Given the description of an element on the screen output the (x, y) to click on. 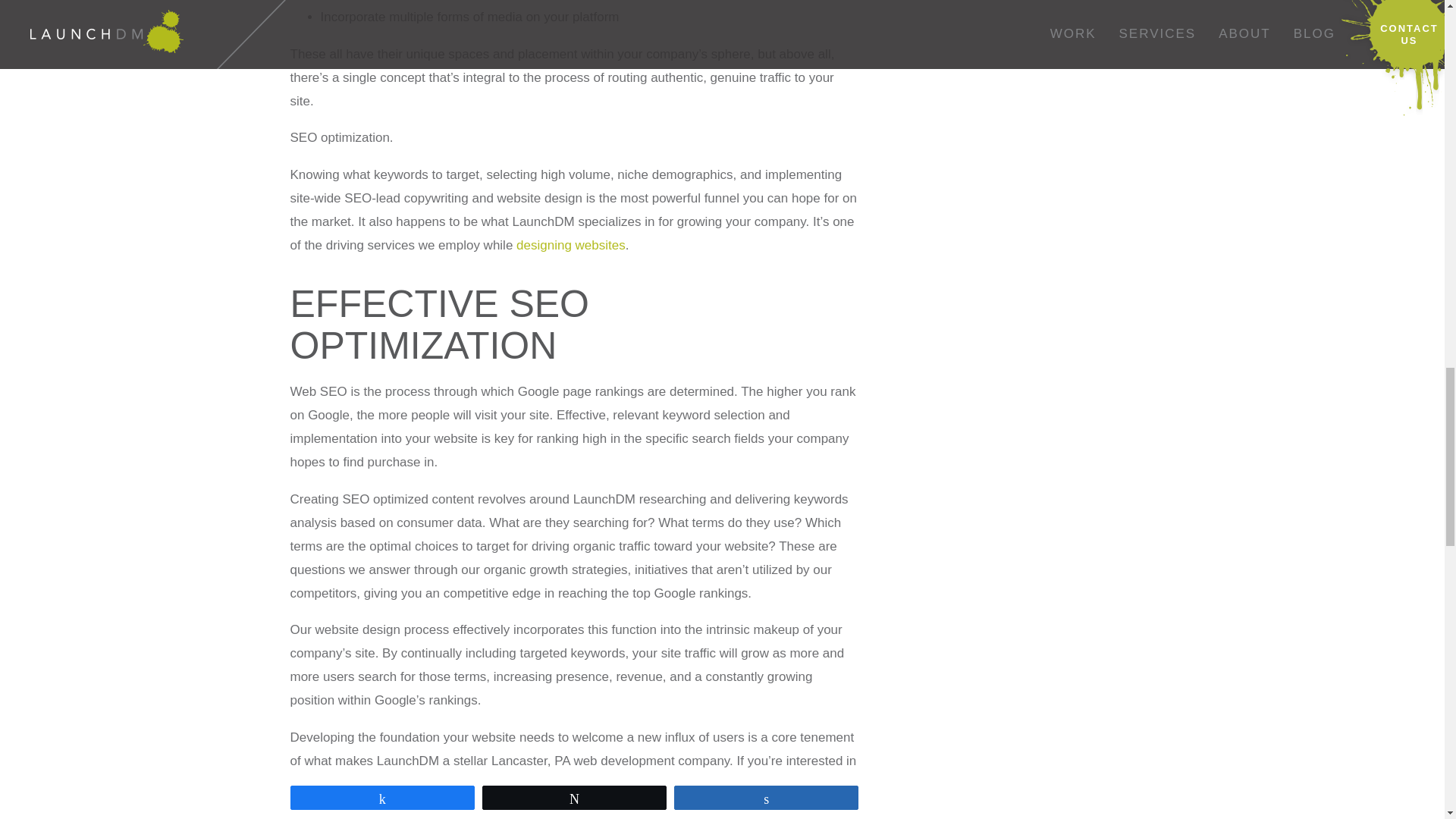
contact page (644, 783)
designing websites (571, 245)
